Given the description of an element on the screen output the (x, y) to click on. 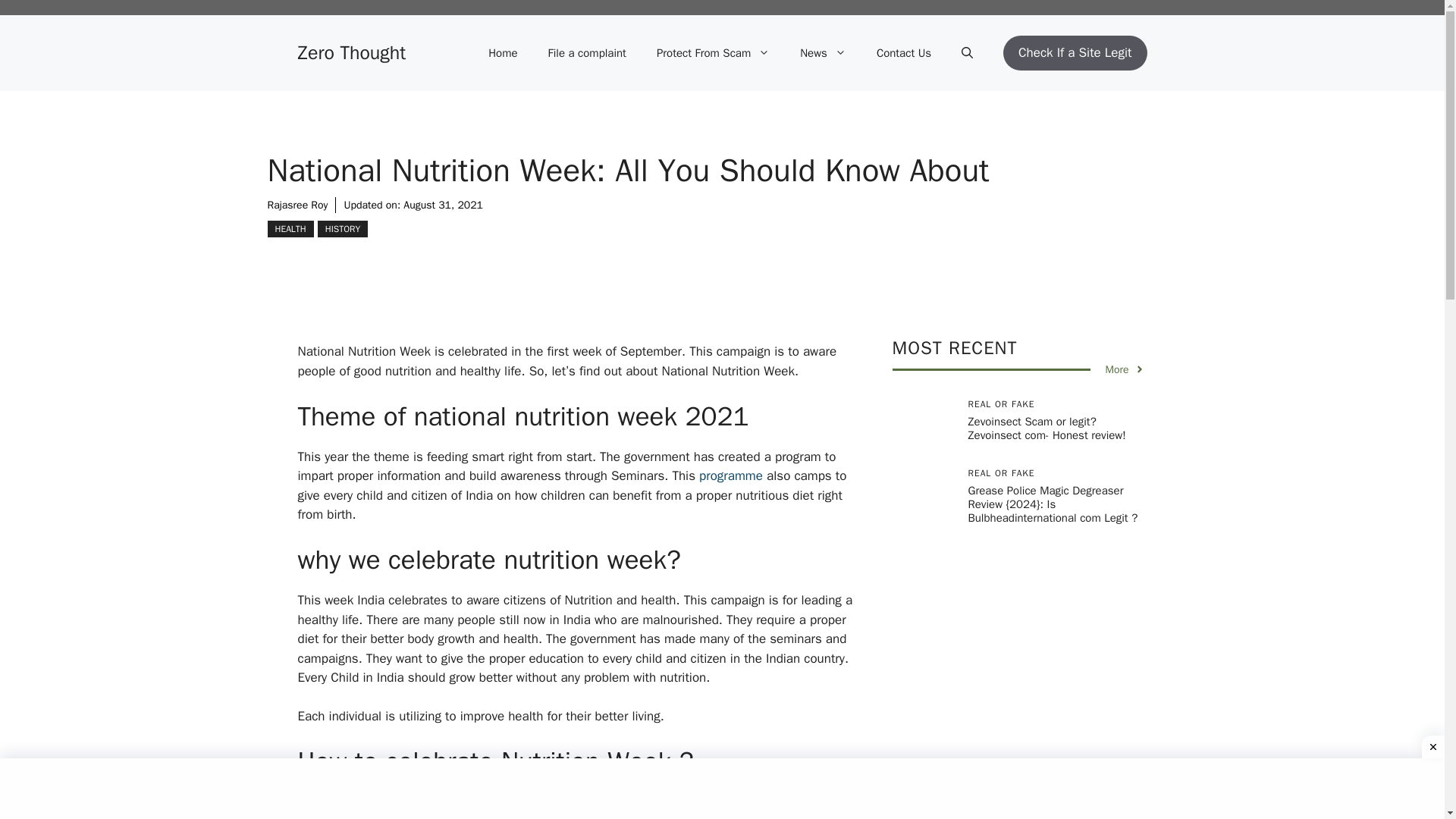
Zero Thought (351, 52)
HISTORY (342, 228)
Protect From Scam (713, 53)
Check If a Site Legit (1075, 53)
HEALTH (289, 228)
Home (502, 53)
File a complaint (587, 53)
Contact Us (903, 53)
Rajasree Roy (296, 205)
programme (730, 475)
News (822, 53)
